Given the description of an element on the screen output the (x, y) to click on. 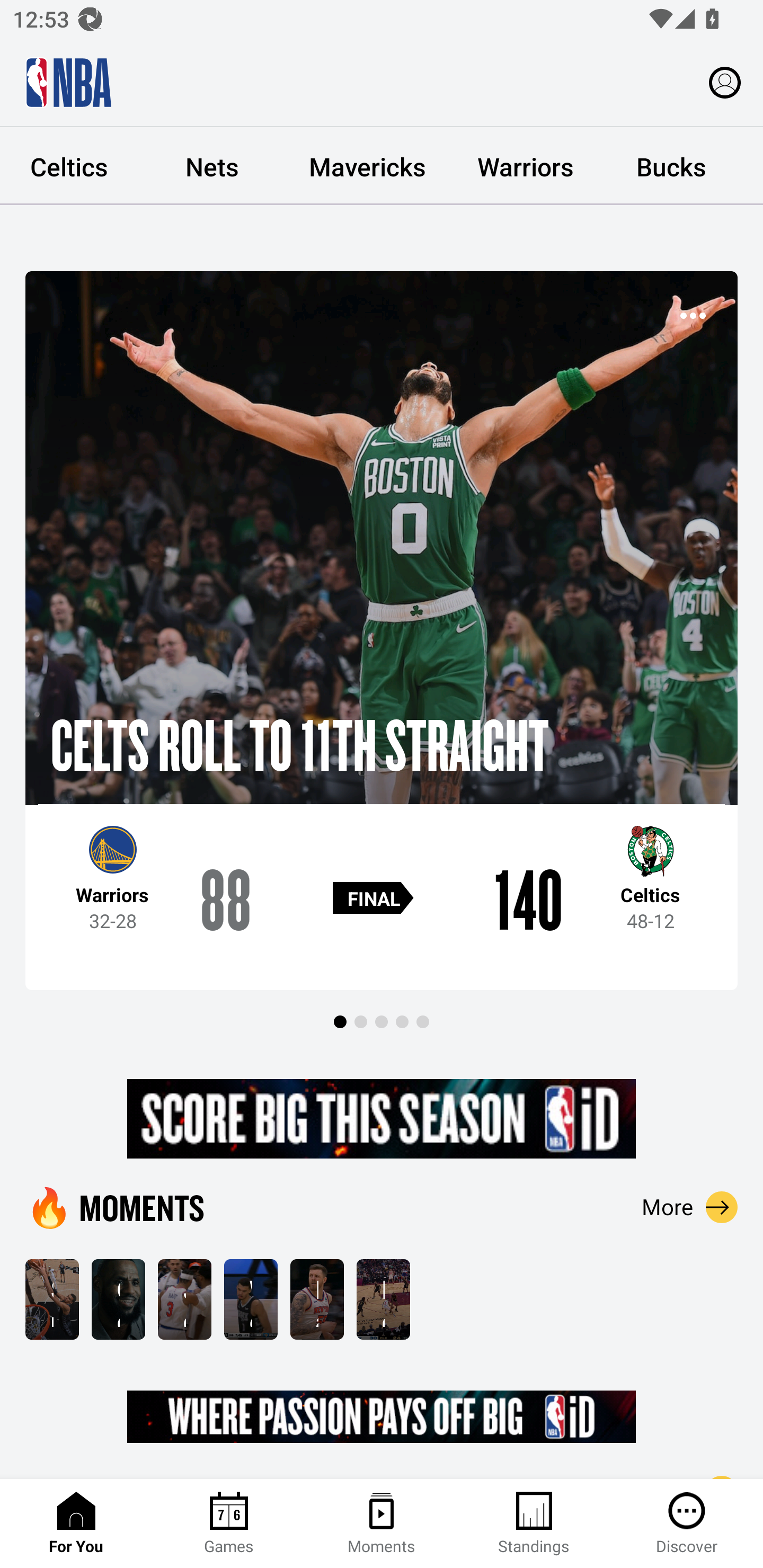
Profile (724, 81)
Celtics (70, 166)
Nets (211, 166)
Mavericks (367, 166)
Warriors (525, 166)
Bucks (671, 166)
More (689, 1207)
Sunday's Top Plays In 30 Seconds ⏱ (51, 1299)
Hartenstein Drops The Hammer 🔨 (317, 1299)
Games (228, 1523)
Moments (381, 1523)
Standings (533, 1523)
Discover (686, 1523)
